Given the description of an element on the screen output the (x, y) to click on. 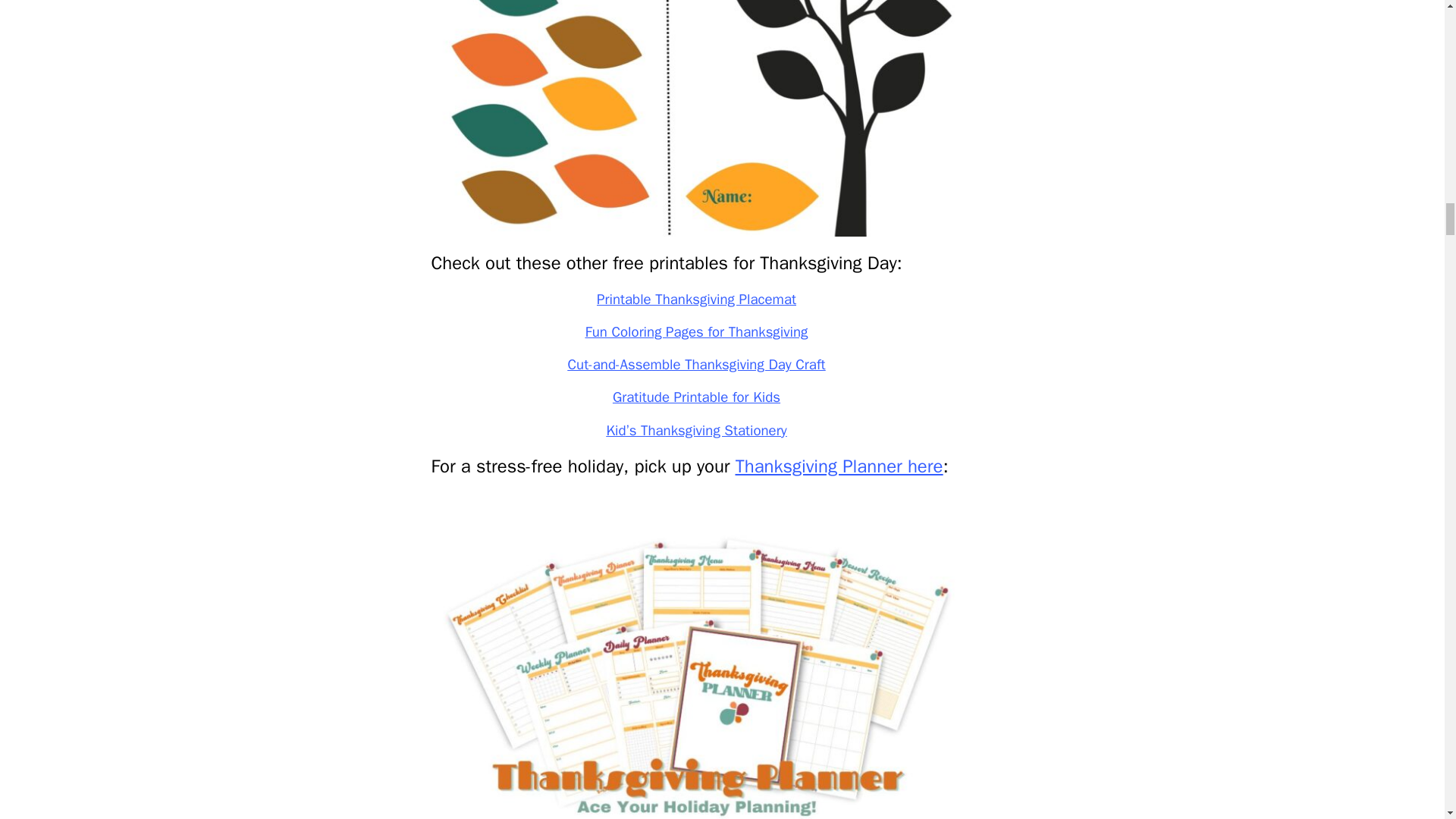
thankful tree printable cut and assemble (695, 118)
